Given the description of an element on the screen output the (x, y) to click on. 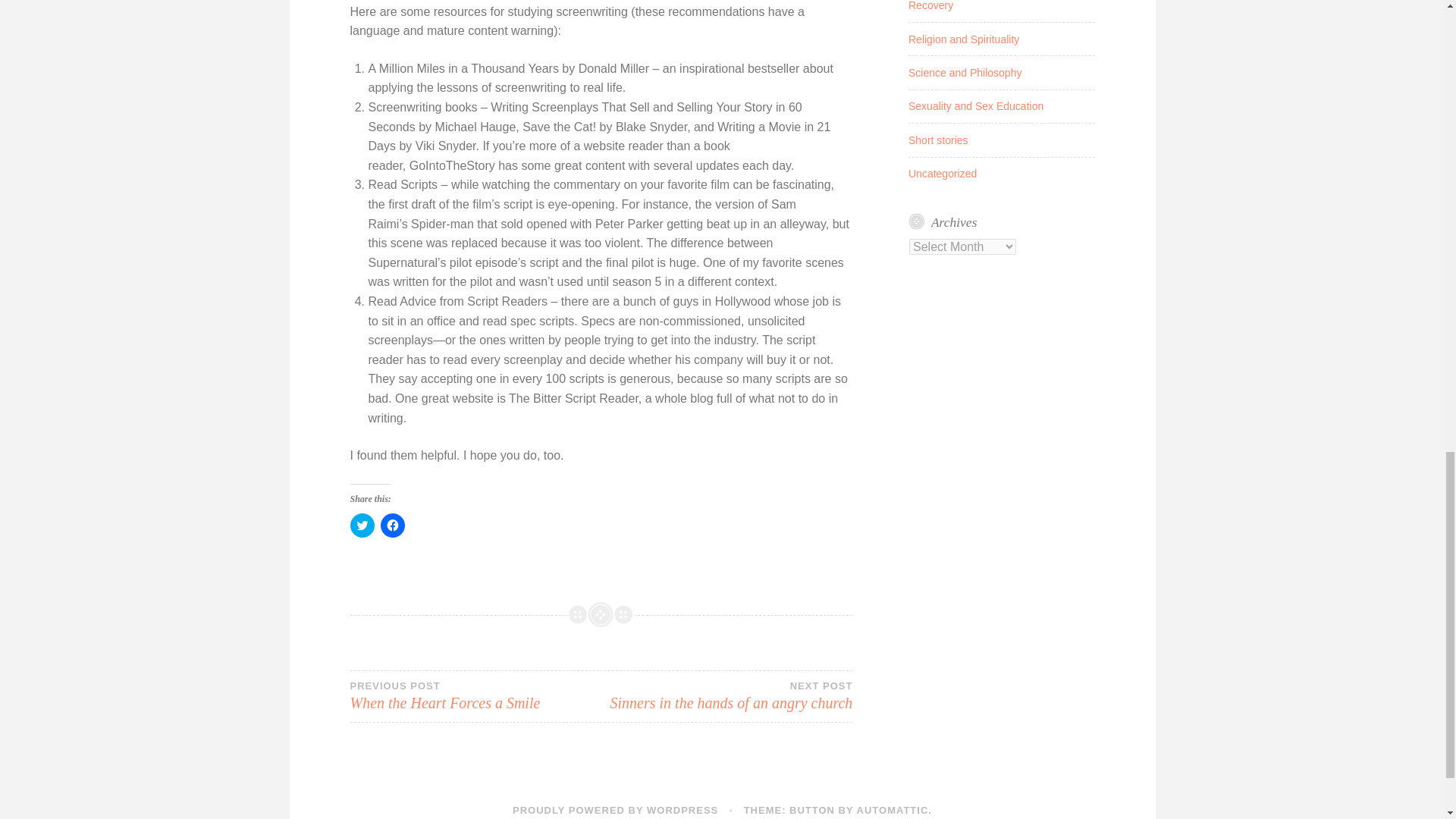
Click to share on Twitter (475, 695)
Religion and Spirituality (362, 525)
Short stories (963, 39)
Recovery (938, 140)
Uncategorized (930, 5)
Sexuality and Sex Education (942, 173)
Science and Philosophy (975, 105)
AUTOMATTIC (965, 72)
Click to share on Facebook (892, 809)
